Given the description of an element on the screen output the (x, y) to click on. 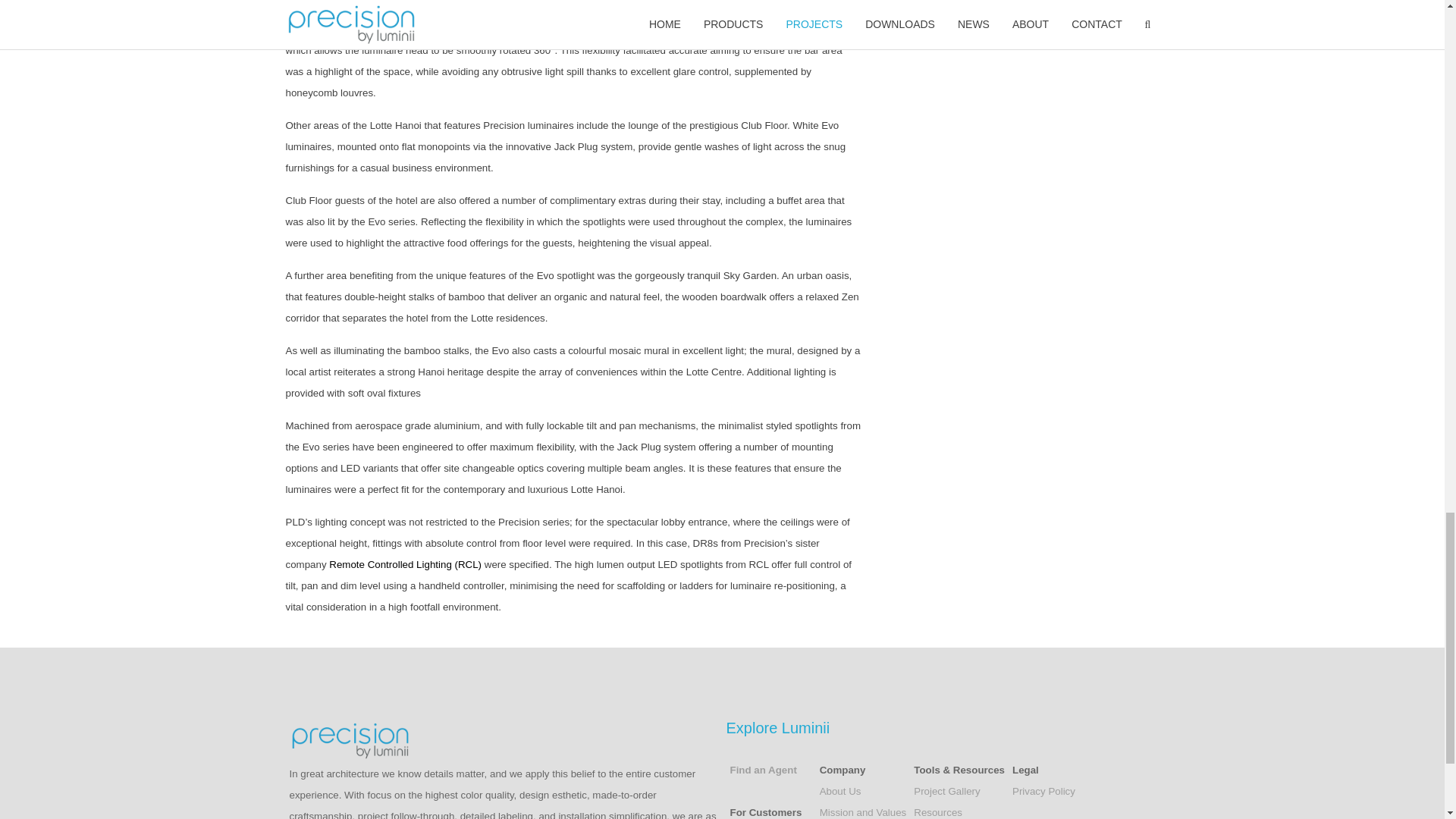
Resources (938, 812)
Privacy Policy (1043, 790)
Project Gallery (946, 790)
Find an Agent (762, 769)
Mission and Values (863, 812)
About Us (840, 790)
